Given the description of an element on the screen output the (x, y) to click on. 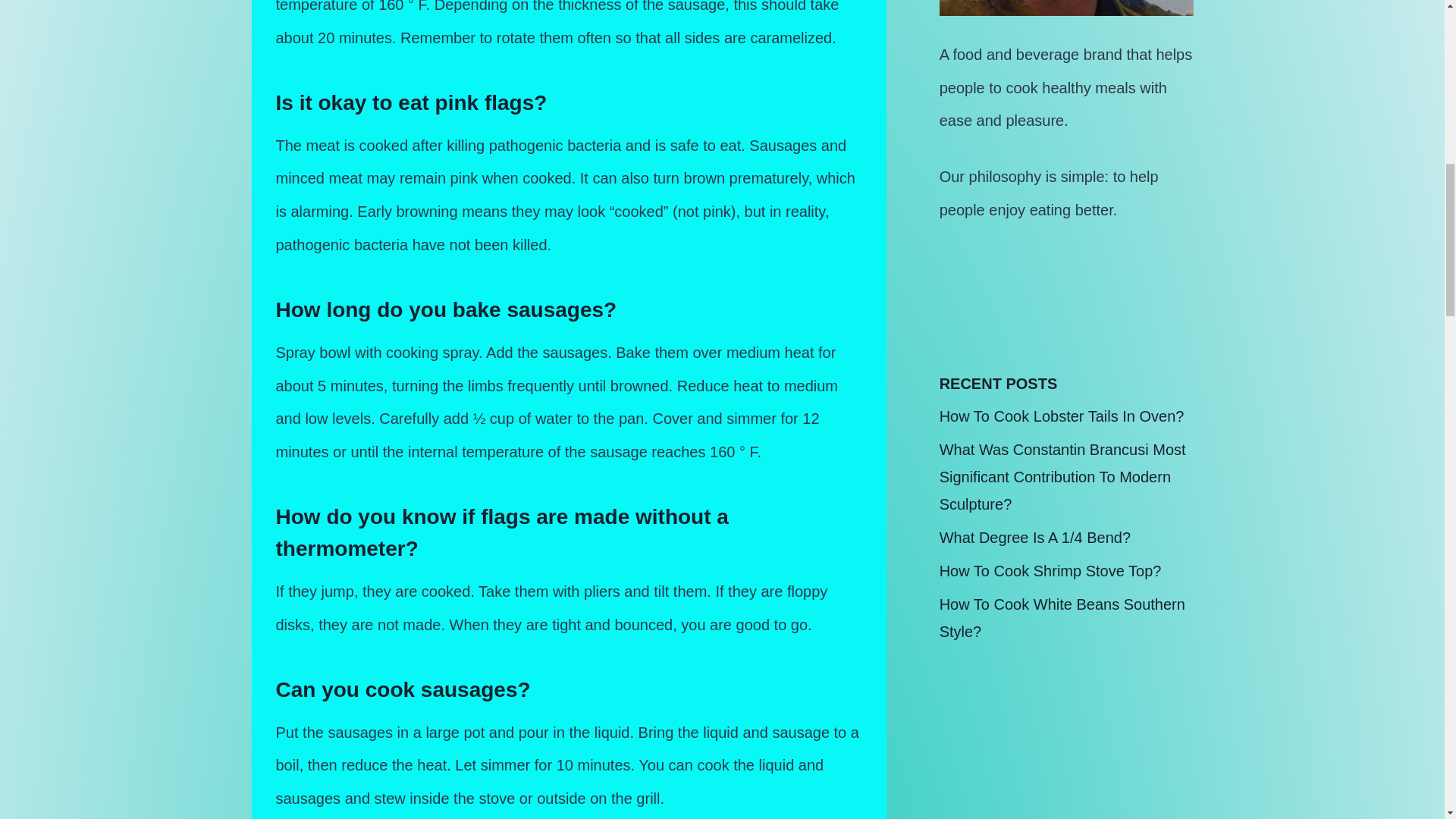
How To Cook Shrimp Stove Top? (1050, 570)
How To Cook Lobster Tails In Oven? (1062, 416)
How To Cook White Beans Southern Style? (1062, 617)
